Given the description of an element on the screen output the (x, y) to click on. 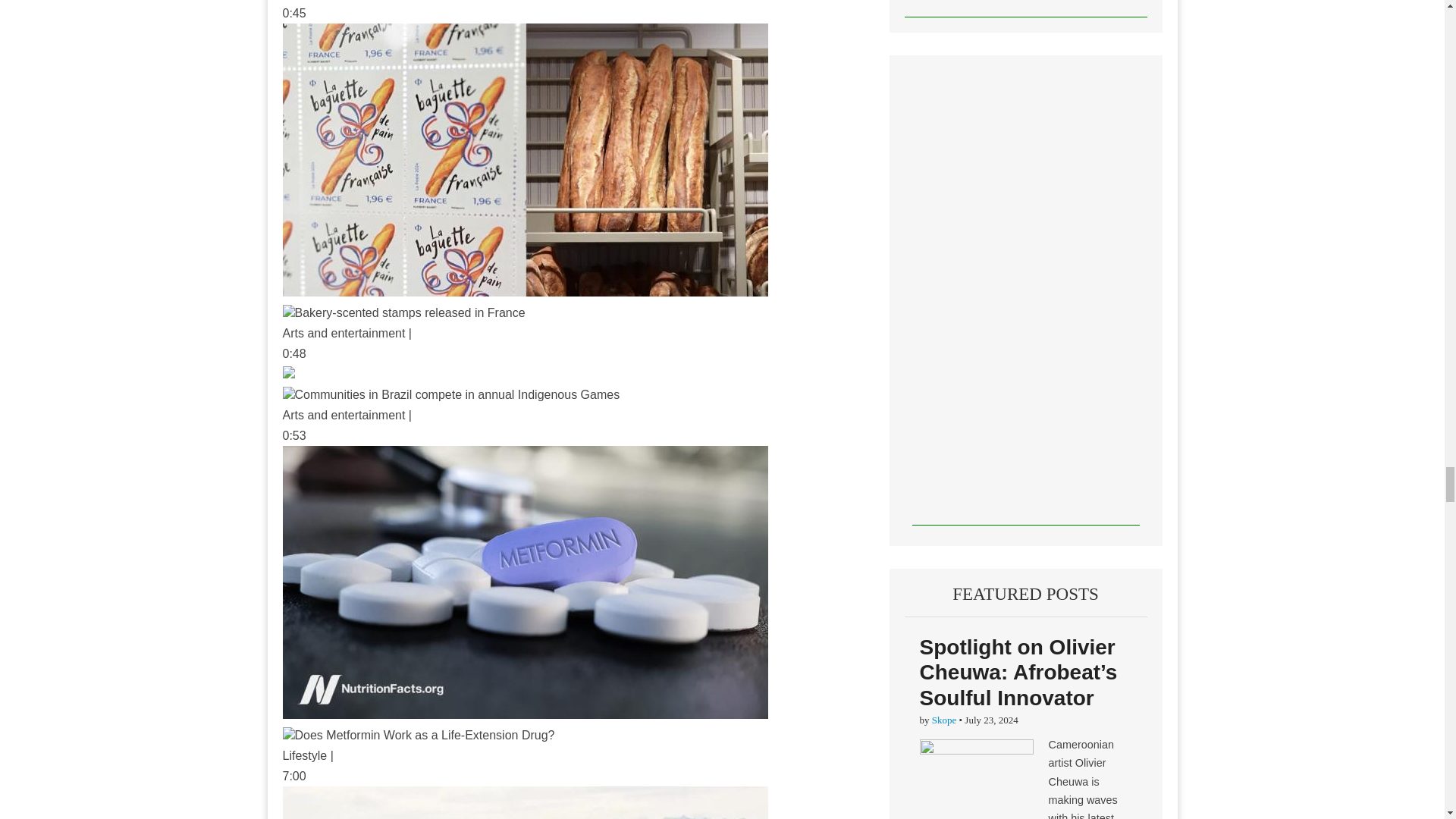
Posts by Skope (943, 719)
